Given the description of an element on the screen output the (x, y) to click on. 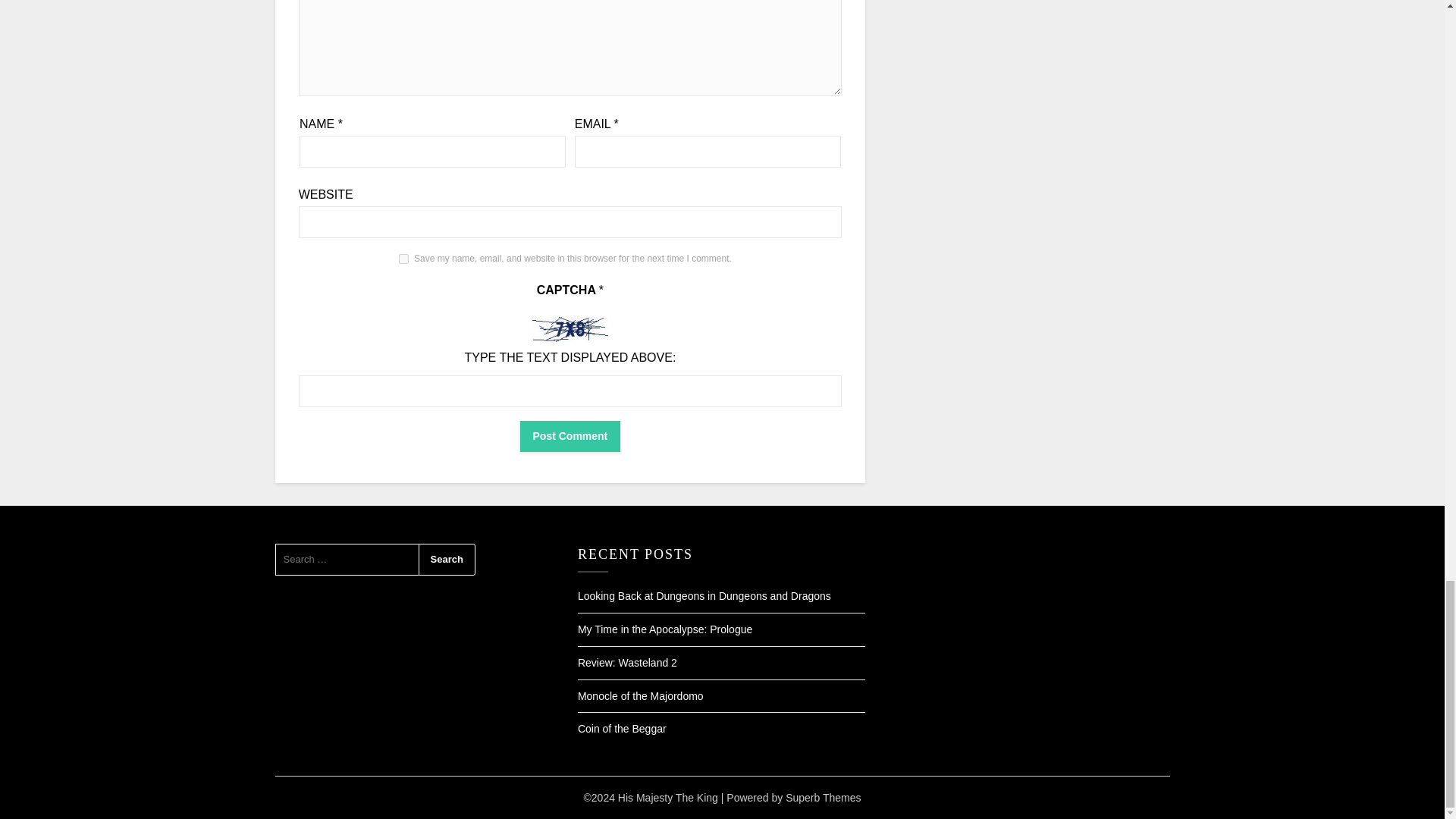
Search (447, 559)
Search (447, 559)
Post Comment (570, 436)
yes (403, 258)
Post Comment (570, 436)
